Given the description of an element on the screen output the (x, y) to click on. 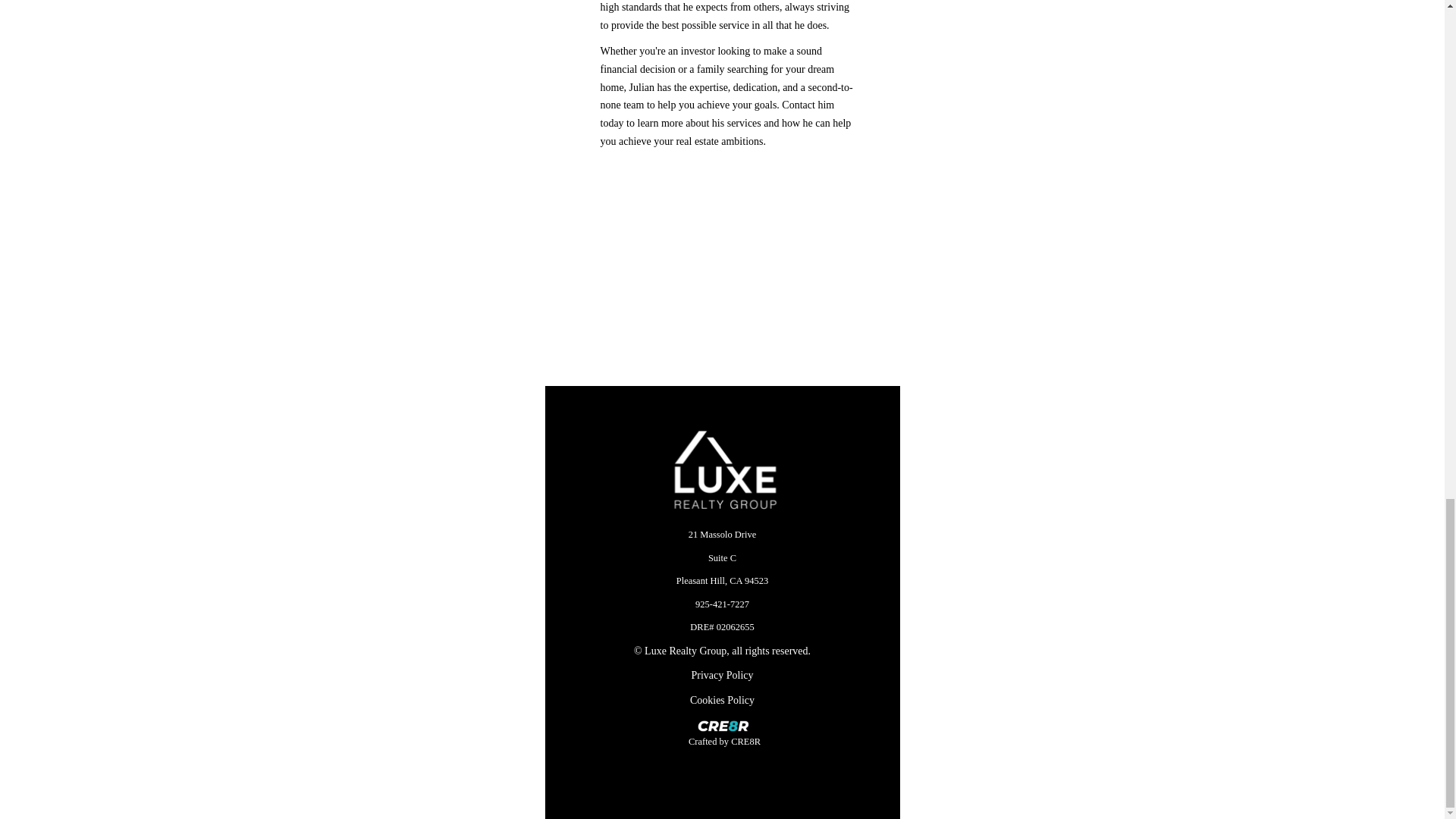
Cookies Policy (722, 700)
Luxe   Logo Final White copy (724, 471)
Crafted by CRE8R (724, 740)
Privacy Policy (721, 675)
